Given the description of an element on the screen output the (x, y) to click on. 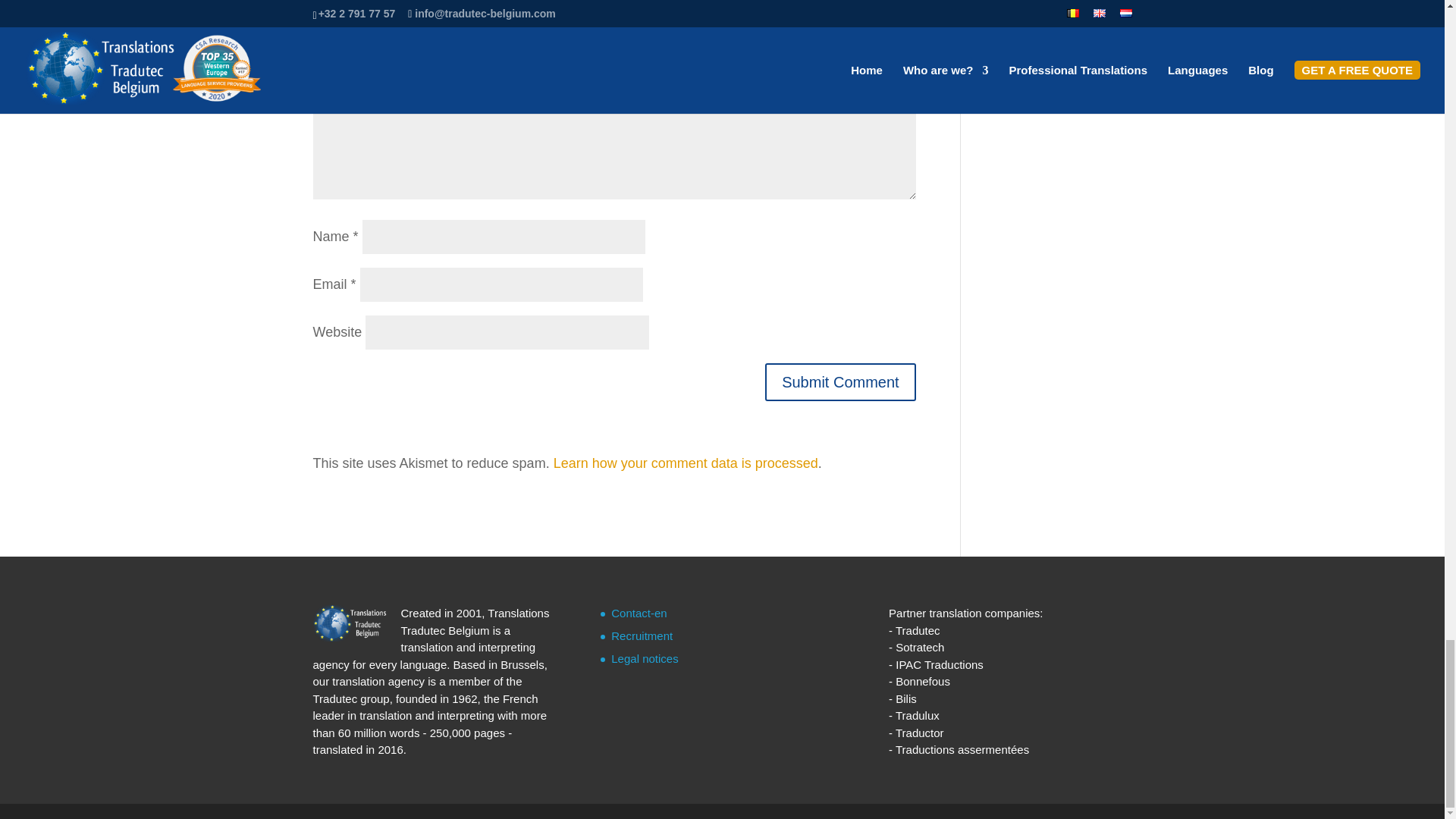
Legal notices (644, 658)
Learn how your comment data is processed (685, 462)
Recruitment (641, 635)
Submit Comment (840, 382)
Contact-en (638, 612)
Submit Comment (840, 382)
